Given the description of an element on the screen output the (x, y) to click on. 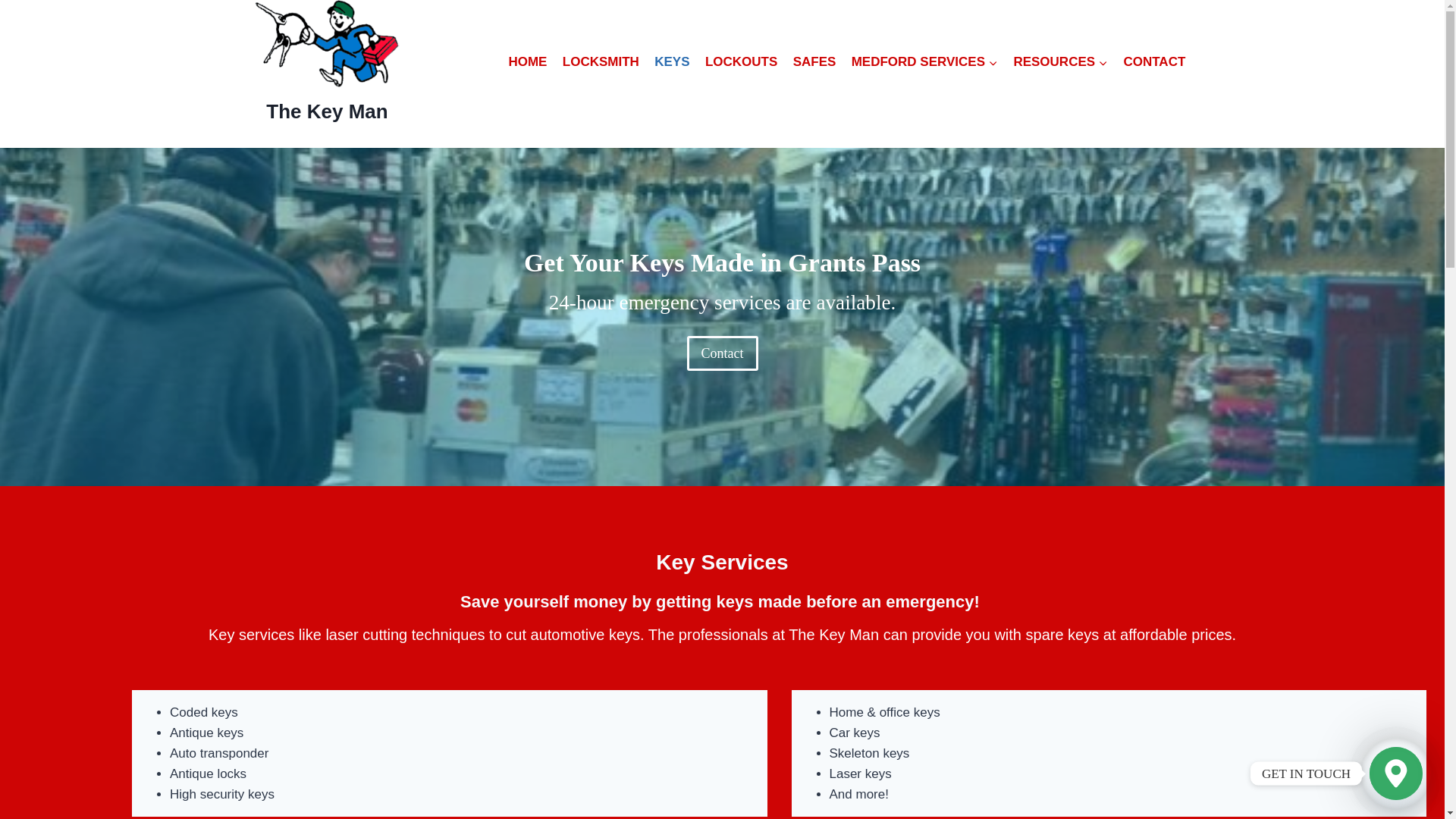
RESOURCES (1060, 62)
MEDFORD SERVICES (925, 62)
HOME (527, 62)
LOCKSMITH (600, 62)
KEYS (671, 62)
The Key Man (327, 61)
LOCKOUTS (741, 62)
SAFES (813, 62)
Contact (722, 352)
CONTACT (1153, 62)
